Given the description of an element on the screen output the (x, y) to click on. 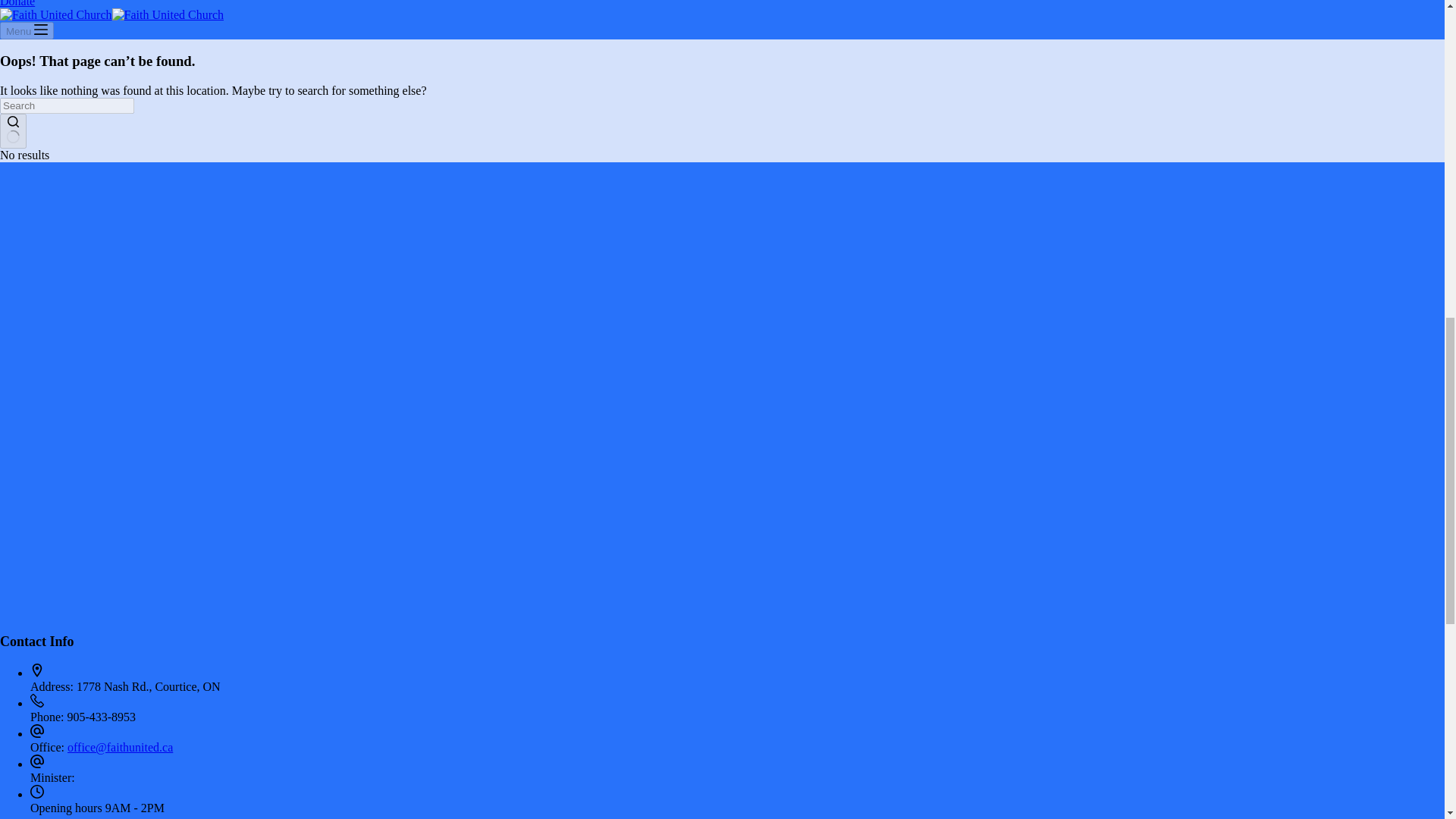
Search for... (66, 105)
